Given the description of an element on the screen output the (x, y) to click on. 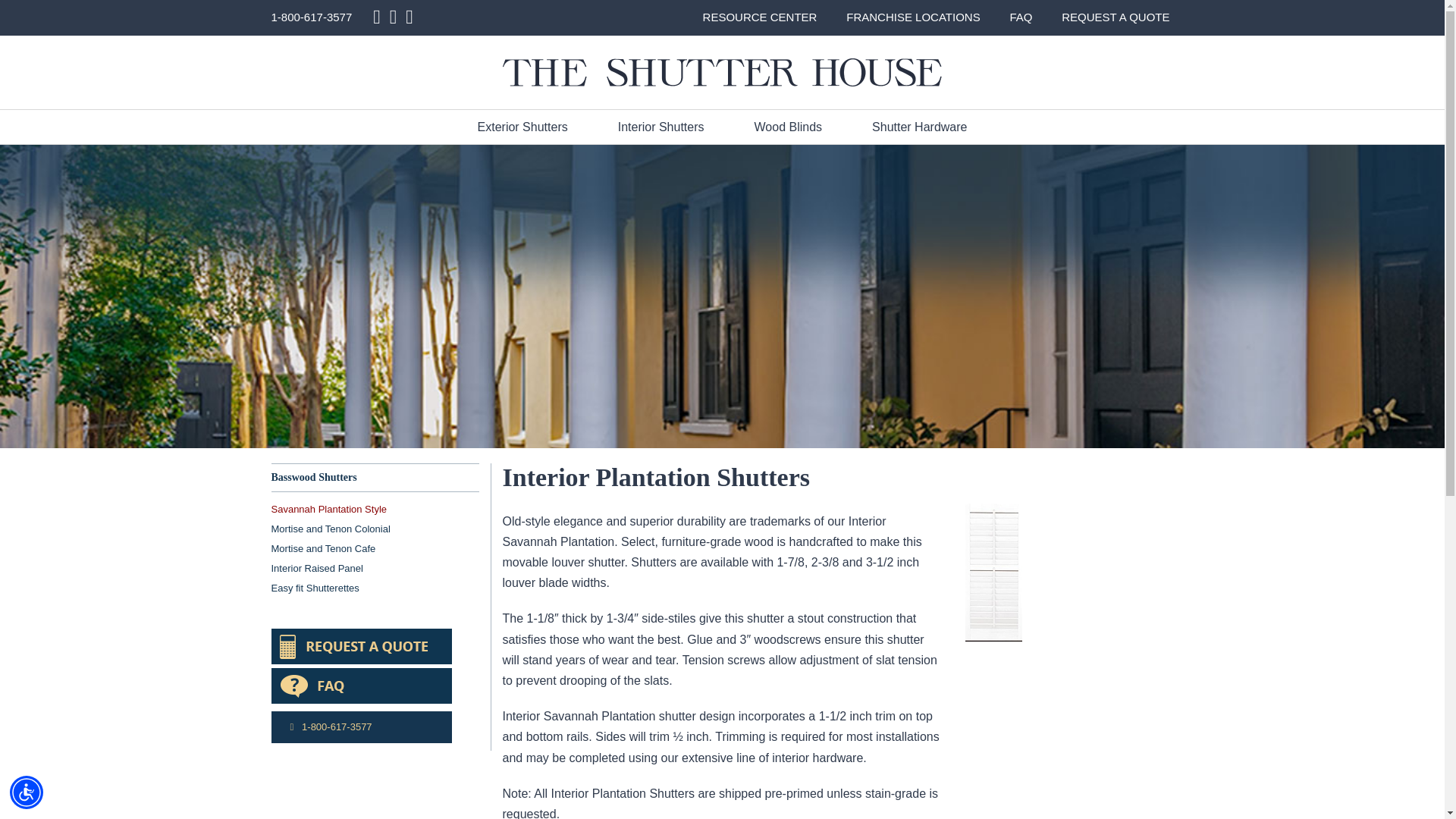
Wood Blinds (788, 126)
Shutter Hardware (919, 126)
Accessibility Menu (26, 792)
REQUEST A QUOTE (1115, 16)
Exterior Shutters (522, 126)
Savannah Plantation Style (328, 509)
Easy fit Shutterettes (314, 587)
Basswood Shutters (313, 477)
   1-800-617-3577 (360, 726)
Mortise and Tenon Colonial (330, 528)
Interior Shutters (661, 126)
FRANCHISE LOCATIONS (912, 16)
RESOURCE CENTER (759, 16)
Mortise and Tenon Cafe (322, 548)
FAQ (1020, 16)
